Given the description of an element on the screen output the (x, y) to click on. 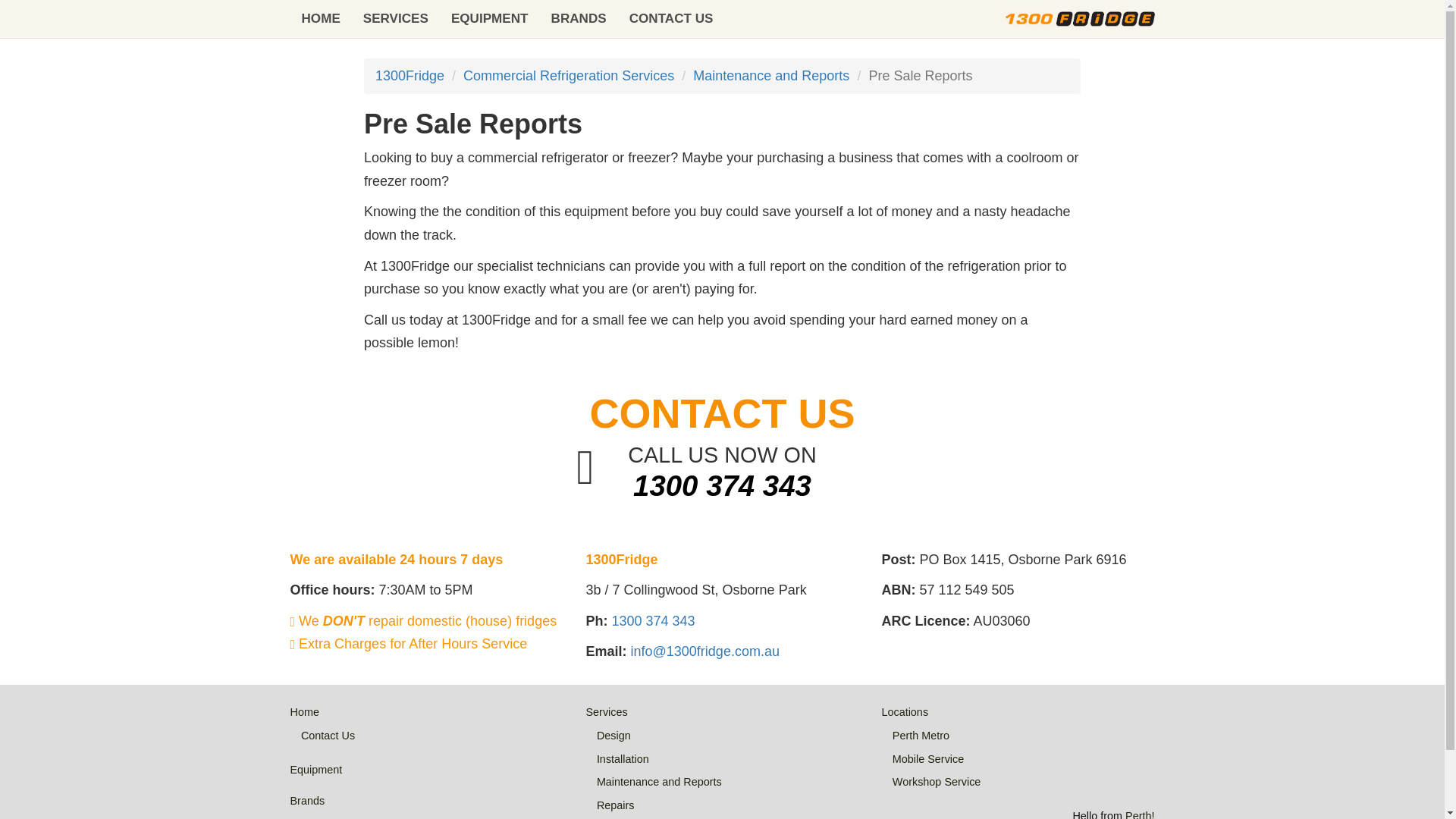
HOME (319, 18)
1300 374 343 (652, 620)
Mobile Service (927, 758)
Equipment (315, 769)
Perth! (1139, 814)
Services (606, 711)
Installation (622, 758)
SERVICES (395, 18)
1300Fridge (409, 75)
Commercial Refrigeration Services (568, 75)
